Given the description of an element on the screen output the (x, y) to click on. 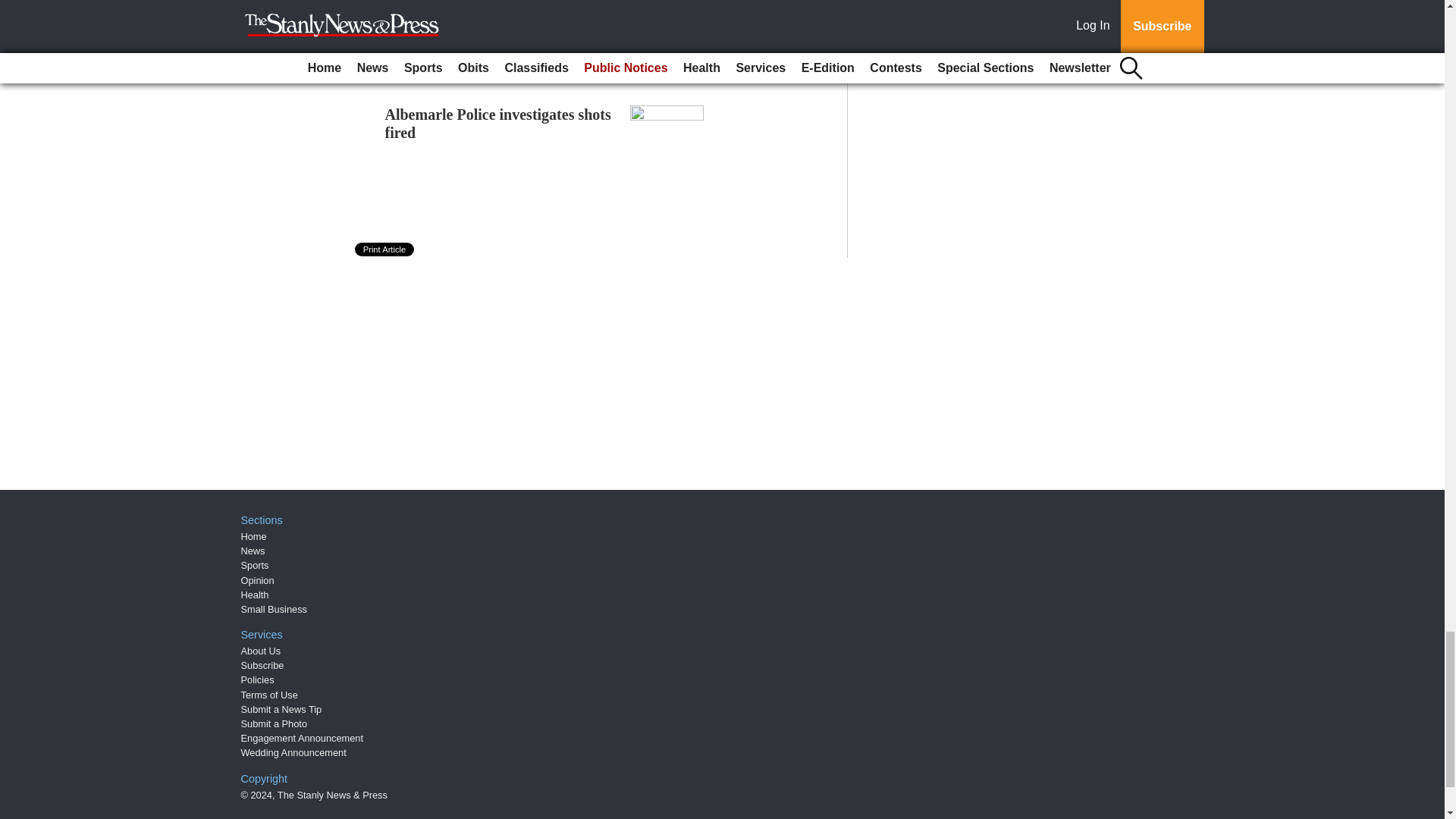
Albemarle Police investigates shots fired (498, 123)
Print Article (384, 249)
Three Rivers Land Trust celebrates 50,000 acres conserved (499, 3)
Three Rivers Land Trust celebrates 50,000 acres conserved (499, 3)
Albemarle Police investigates shots fired (498, 123)
